Given the description of an element on the screen output the (x, y) to click on. 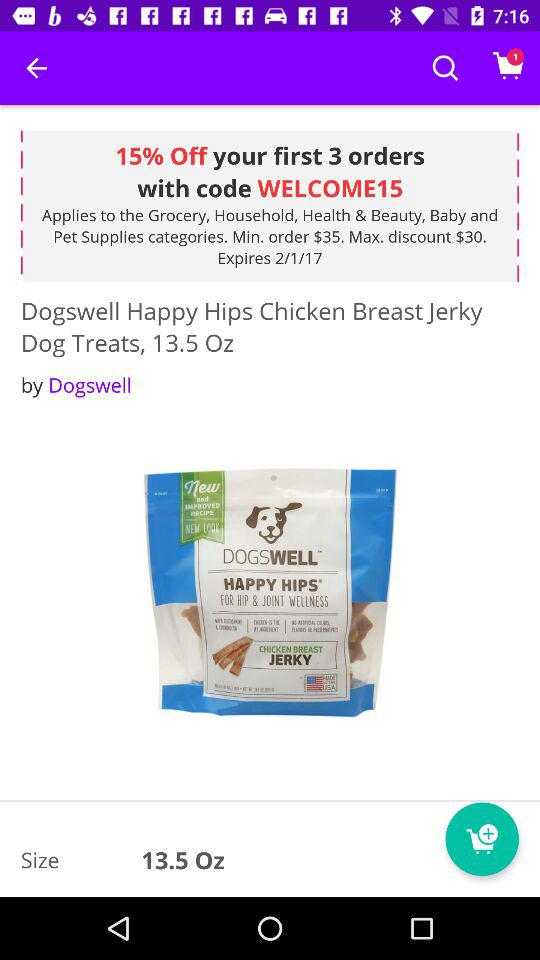
select this item (270, 594)
